Given the description of an element on the screen output the (x, y) to click on. 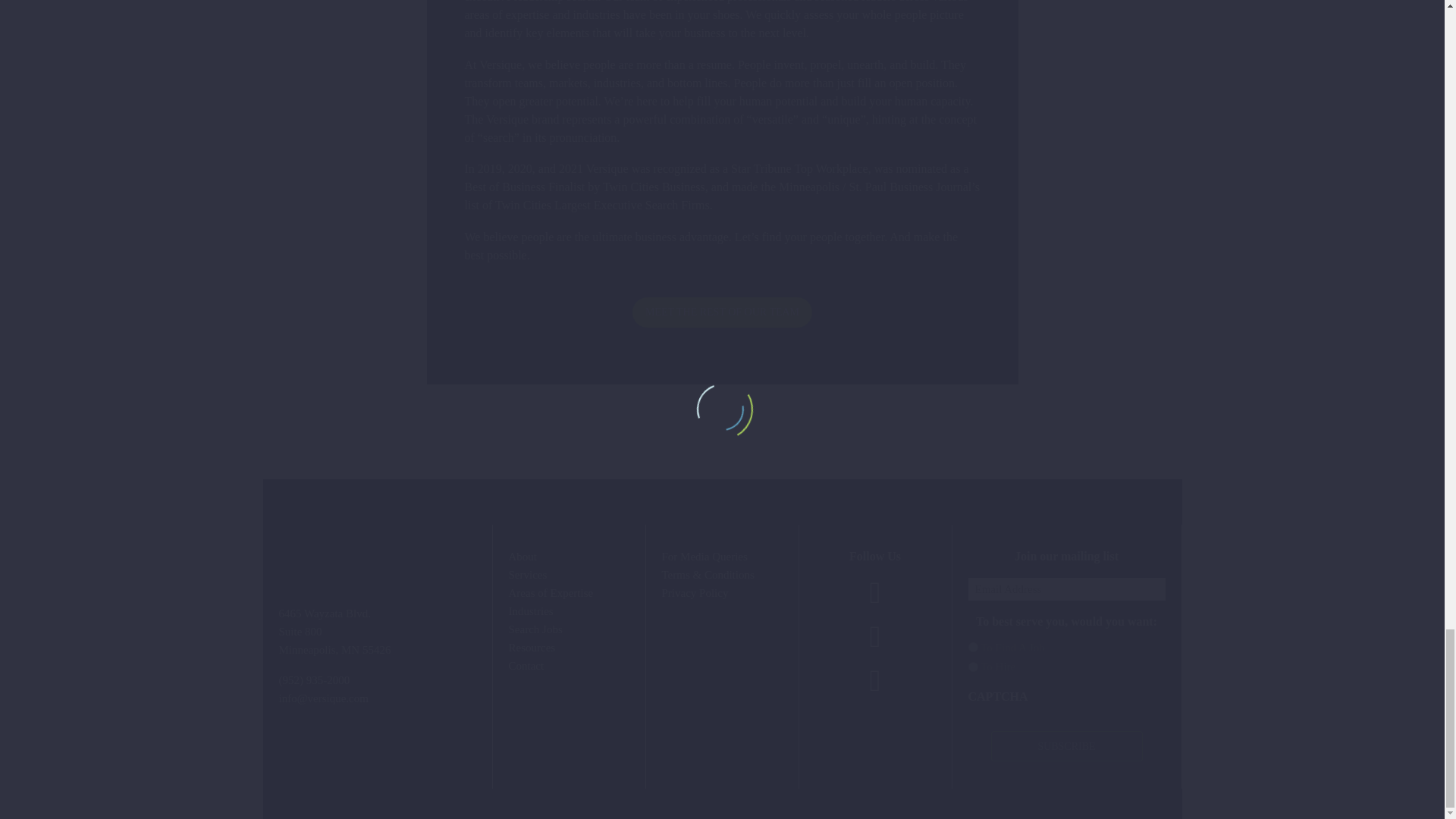
Versique footer logo (377, 537)
To Hire (972, 666)
Subscribe (1065, 746)
To Find A Job (972, 646)
